Given the description of an element on the screen output the (x, y) to click on. 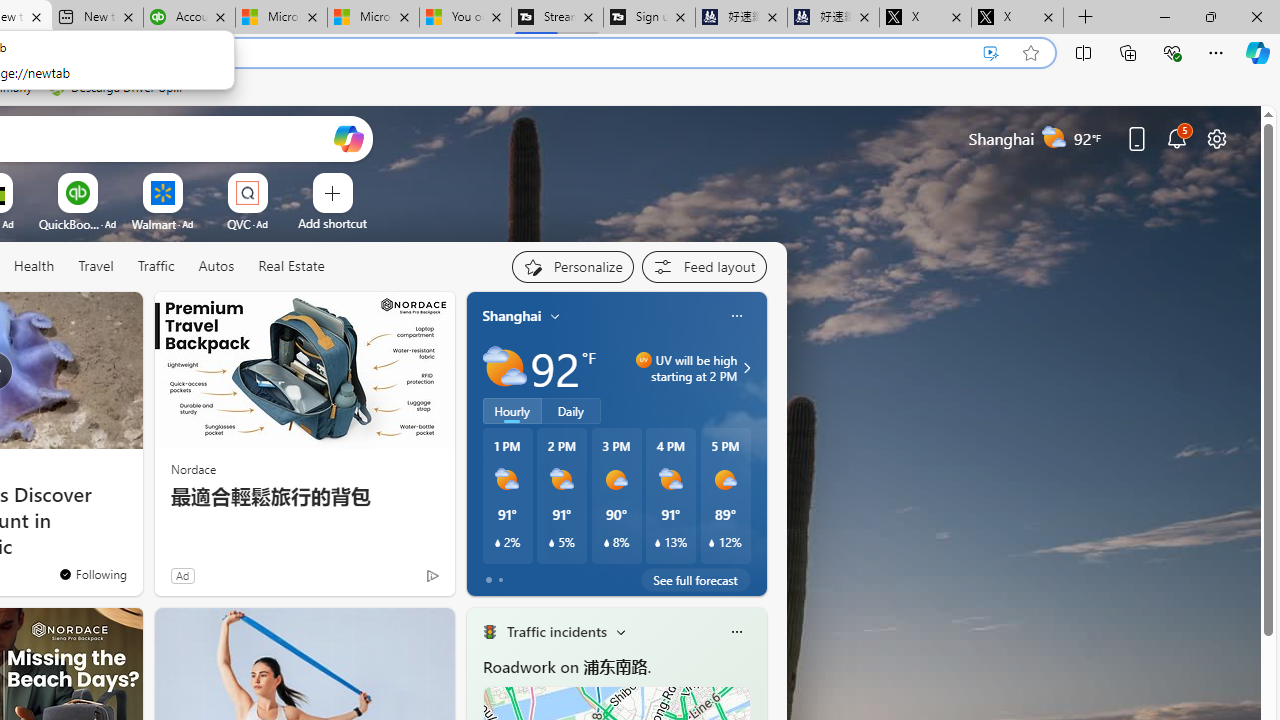
Hourly (511, 411)
Health (33, 267)
Streaming Coverage | T3 (557, 17)
Page settings (1216, 138)
Travel (95, 267)
My location (555, 315)
More options (736, 631)
